Given the description of an element on the screen output the (x, y) to click on. 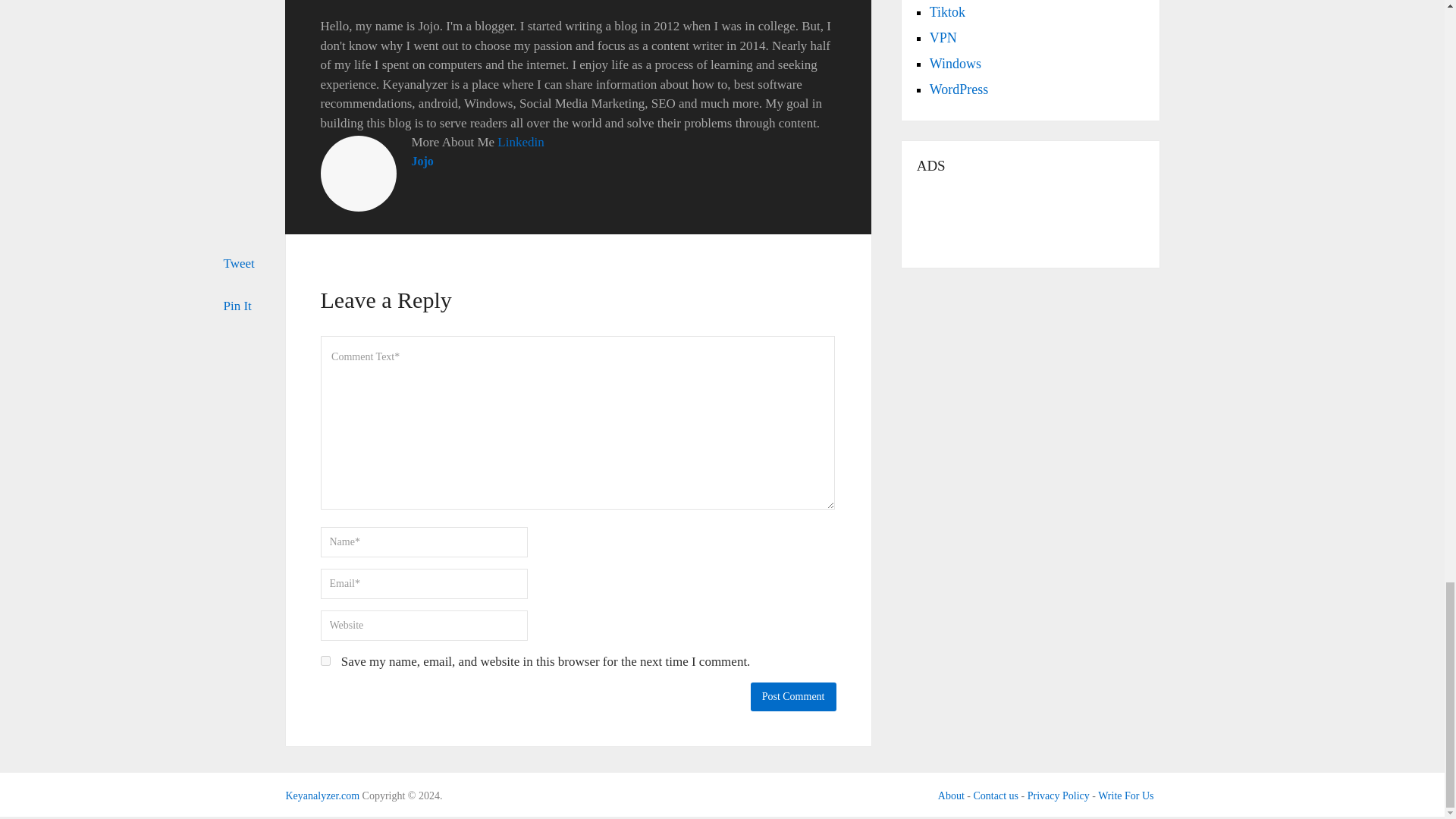
Post Comment (793, 696)
yes (325, 660)
Linkedin (520, 142)
Jojo (421, 160)
